Given the description of an element on the screen output the (x, y) to click on. 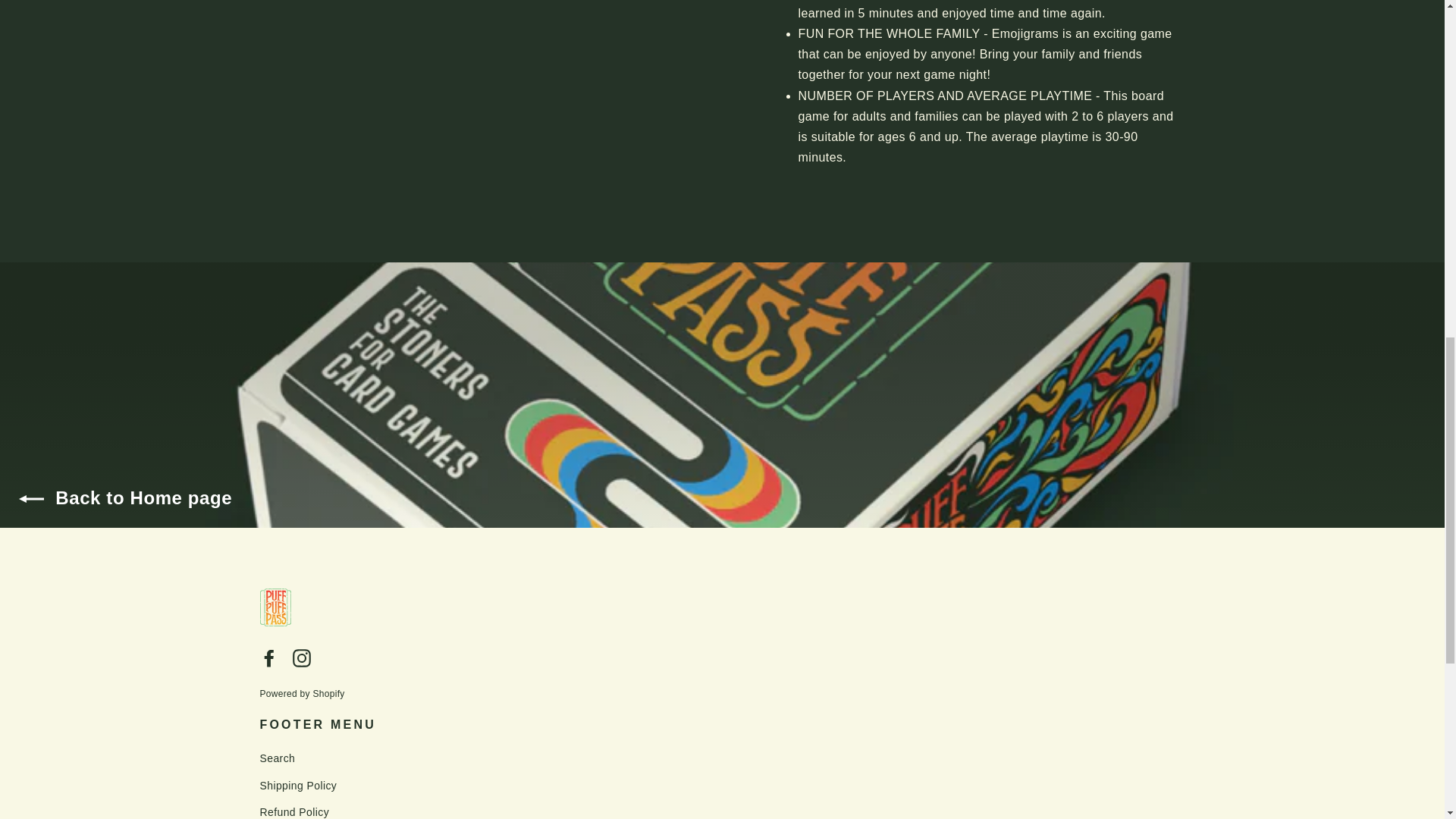
Instagram (301, 657)
Powered by Shopify (301, 693)
Shipping Policy (722, 785)
Search (722, 758)
Refund Policy (722, 809)
Puff Puff Pass Game on Instagram (301, 657)
